Given the description of an element on the screen output the (x, y) to click on. 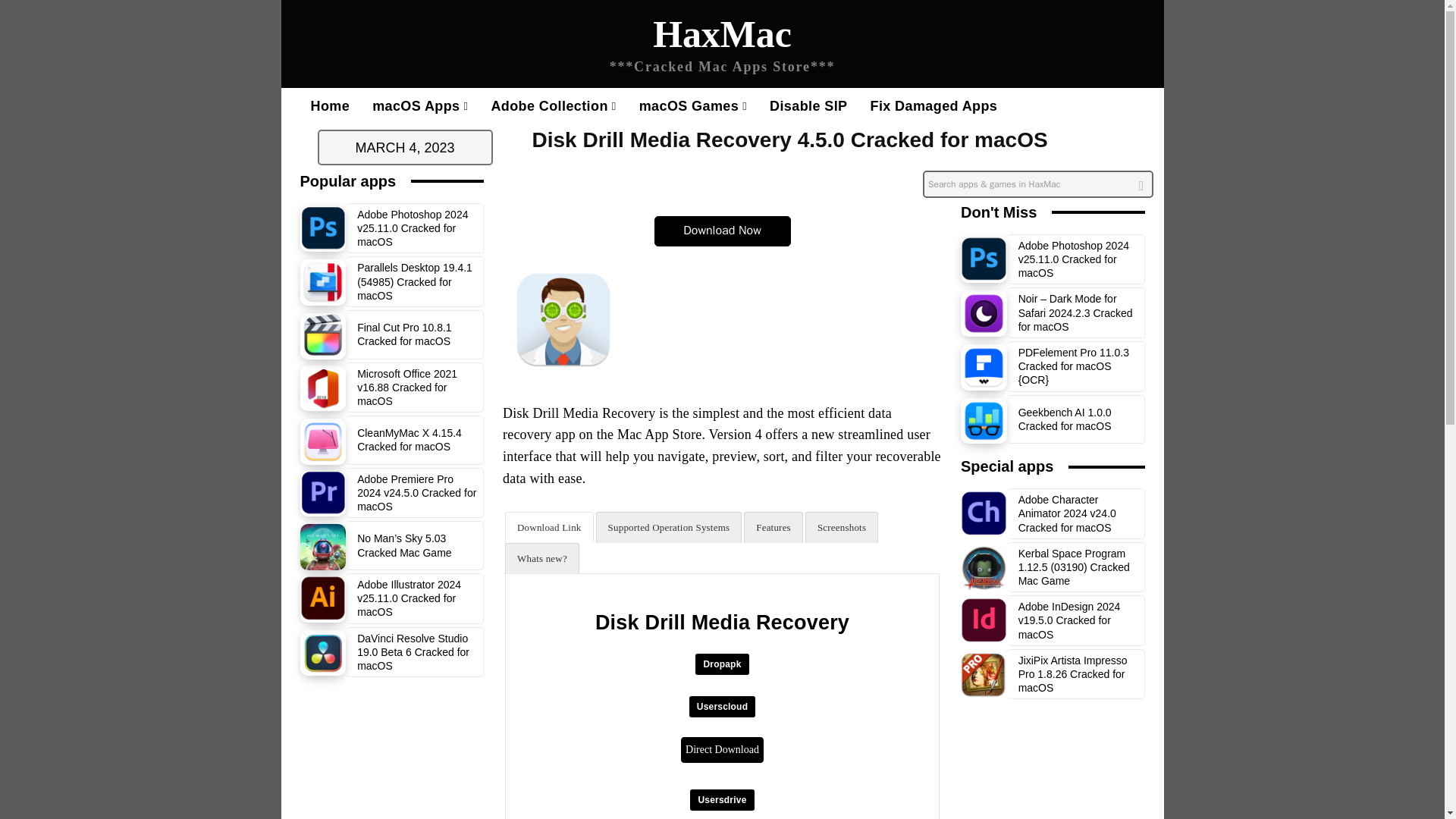
Microsoft Office 2021 v16.88 Cracked for macOS (322, 388)
Final Cut Pro 10.8.1 Cracked for macOS (403, 334)
Haxmac (722, 47)
CleanMyMac X 4.15.4 Cracked for macOS (322, 441)
Home (329, 105)
Final Cut Pro 10.8.1 Cracked for macOS (322, 335)
Adobe Premiere Pro 2024 v24.5.0 Cracked for macOS (322, 493)
Adobe Premiere Pro 2024 v24.5.0 Cracked for macOS (416, 492)
Microsoft Office 2021 v16.88 Cracked for macOS (406, 387)
Adobe Photoshop 2024 v25.11.0 Cracked for macOS (322, 229)
